Given the description of an element on the screen output the (x, y) to click on. 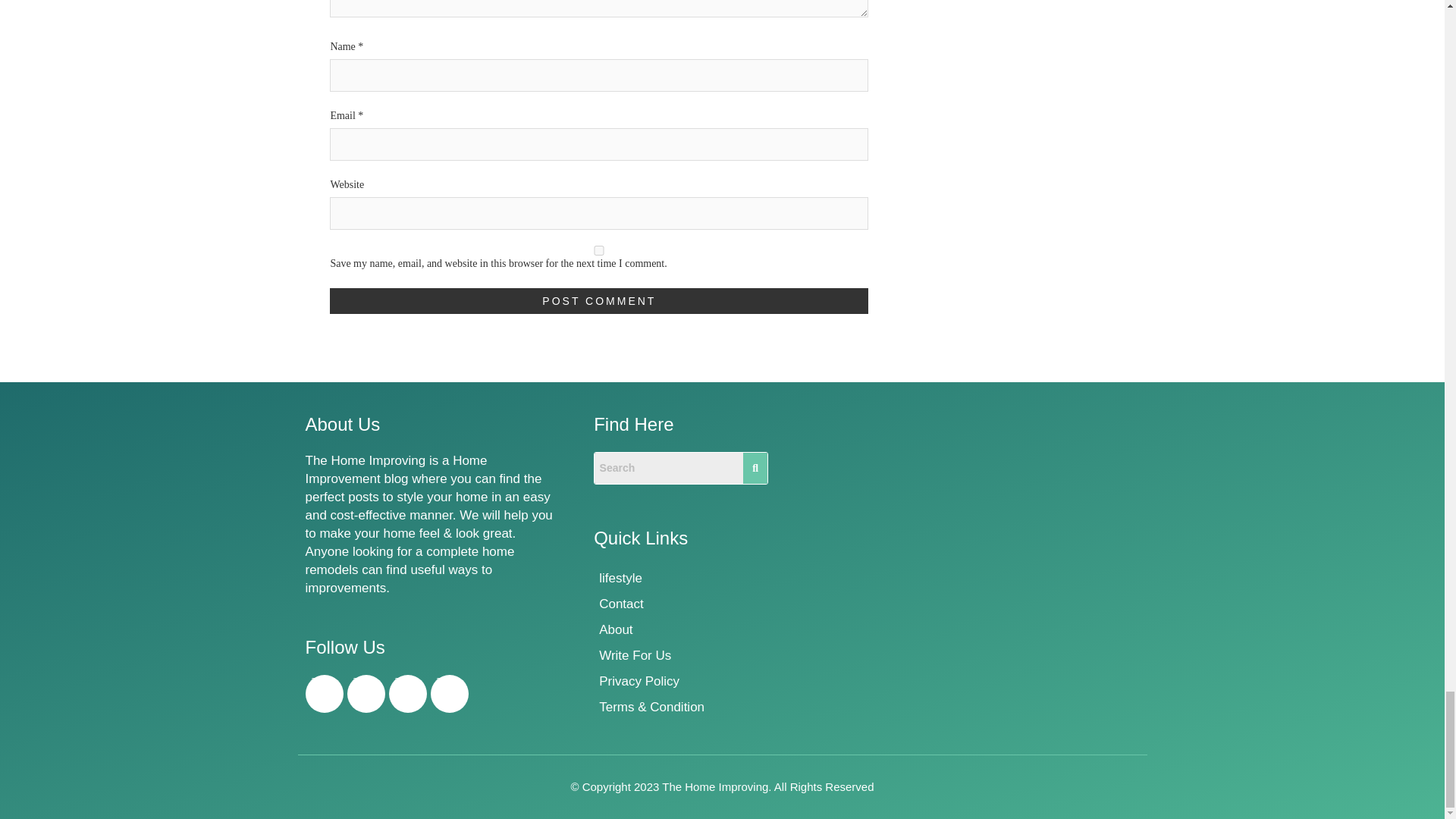
Post Comment (598, 300)
Search (668, 468)
yes (598, 250)
